Given the description of an element on the screen output the (x, y) to click on. 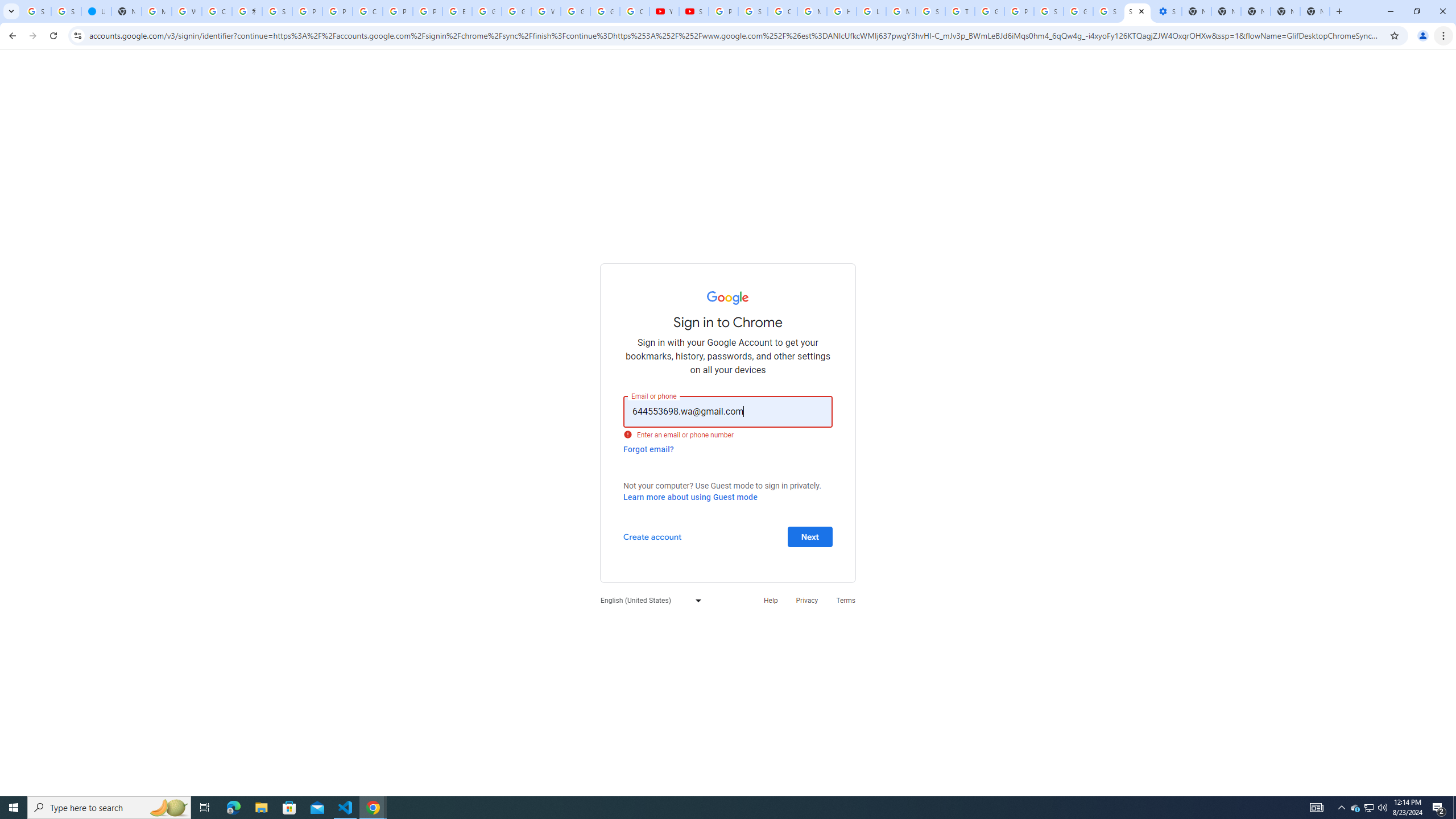
Learn more about using Guest mode (689, 497)
Google Account (604, 11)
Settings - Performance (1166, 11)
Forgot email? (648, 449)
Sign in - Google Accounts (1137, 11)
Help (770, 600)
Privacy (806, 600)
Terms (845, 600)
